Given the description of an element on the screen output the (x, y) to click on. 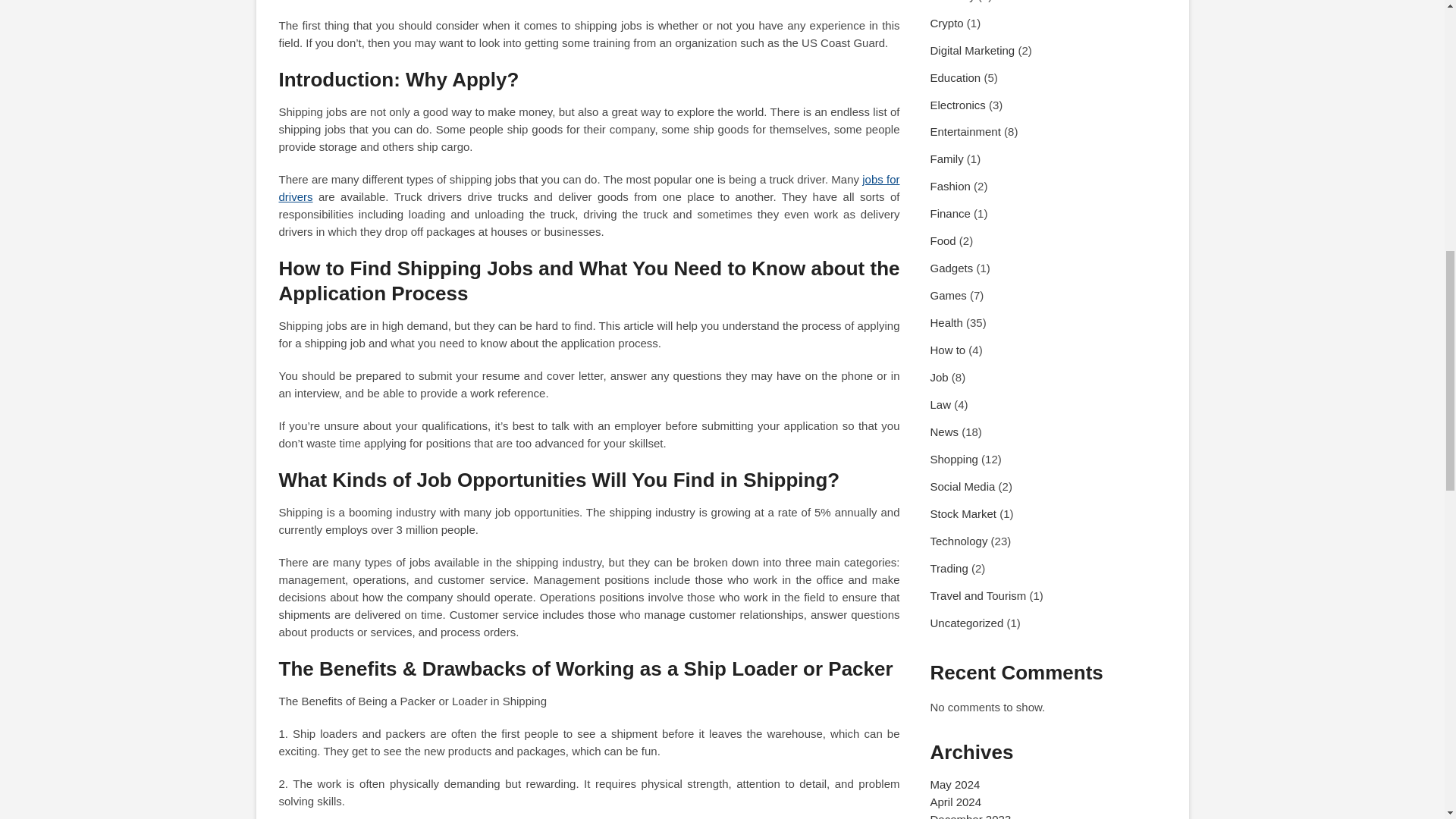
jobs for drivers (589, 187)
